Given the description of an element on the screen output the (x, y) to click on. 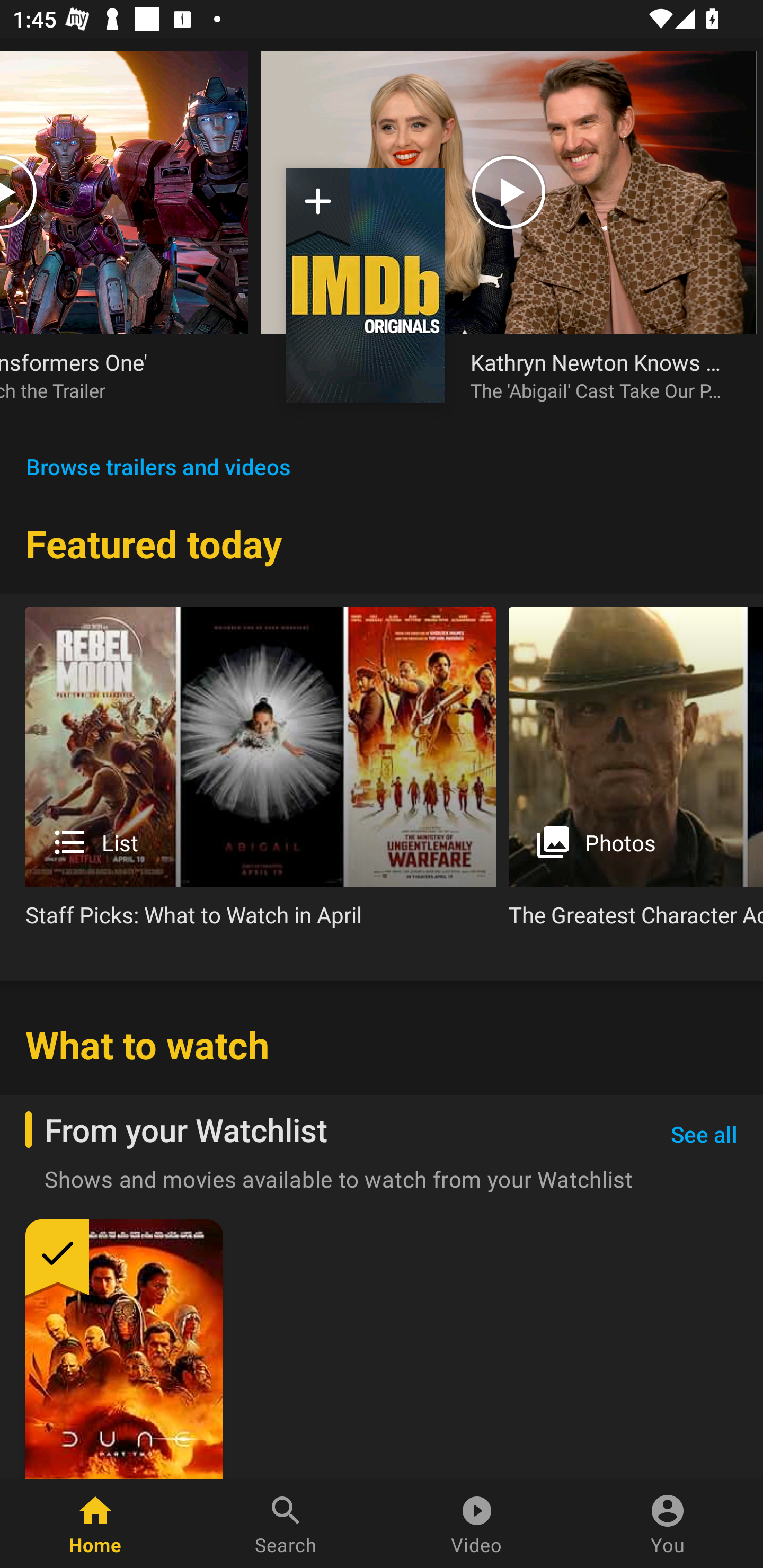
Not in watchlist (365, 284)
Not in watchlist (317, 207)
List Staff Picks: What to Watch in April (260, 774)
Photos The Greatest Character Actors of All Time (635, 774)
See all See all From your Watchlist (703, 1134)
Search (285, 1523)
Video (476, 1523)
You (667, 1523)
